Given the description of an element on the screen output the (x, y) to click on. 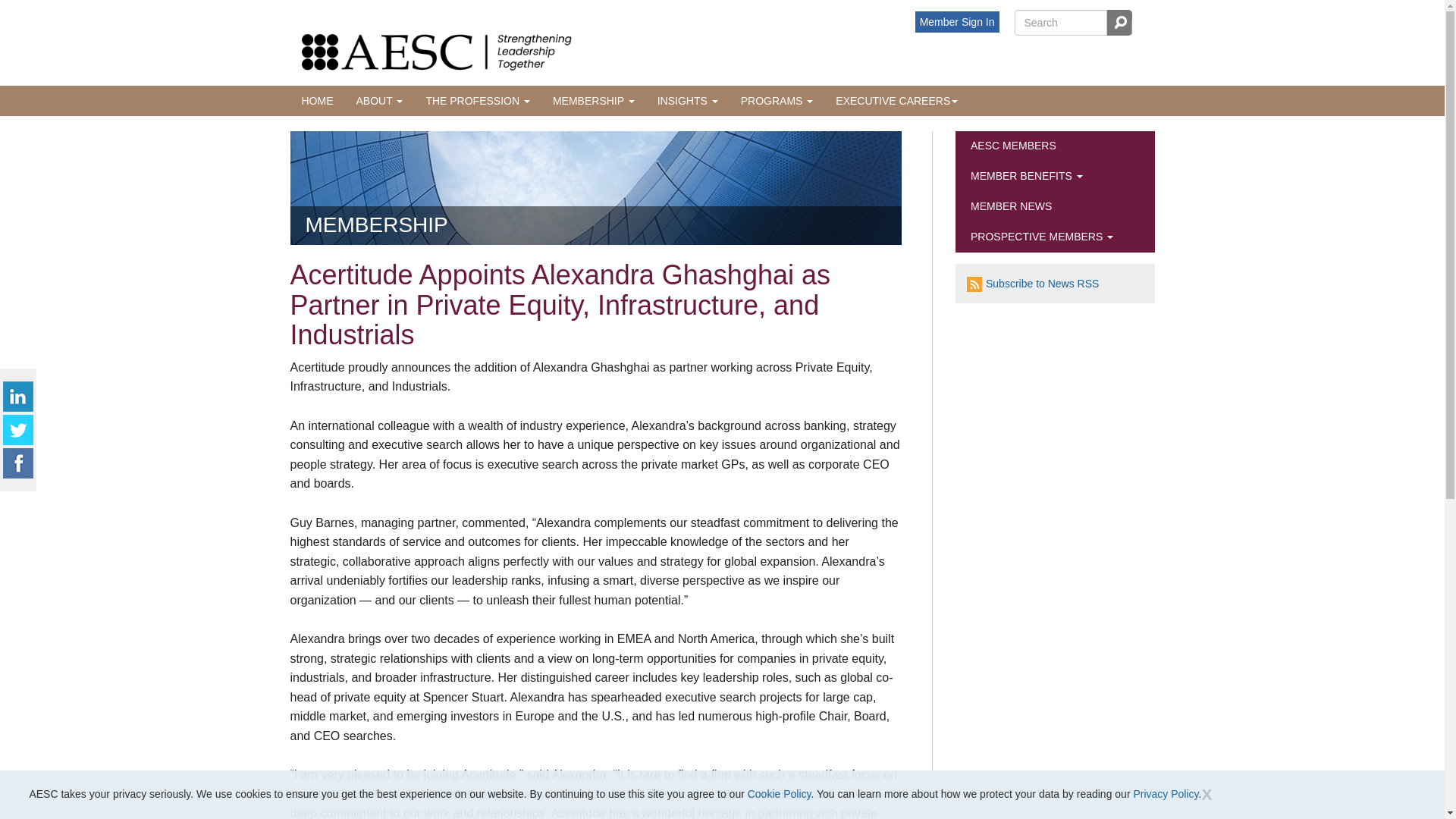
Enter the terms you wish to search for. (1060, 22)
Publish this post to LinkedIn (18, 395)
Search (1118, 22)
PROGRAMS (777, 100)
THE PROFESSION (477, 100)
ABOUT (378, 100)
Share this on Twitter (18, 428)
AESC MEMBERS (1054, 146)
MEMBER BENEFITS (1054, 176)
INSIGHTS (687, 100)
EXECUTIVE CAREERS (896, 100)
HOME (316, 100)
MEMBERSHIP (593, 100)
Member Sign In (956, 21)
